Given the description of an element on the screen output the (x, y) to click on. 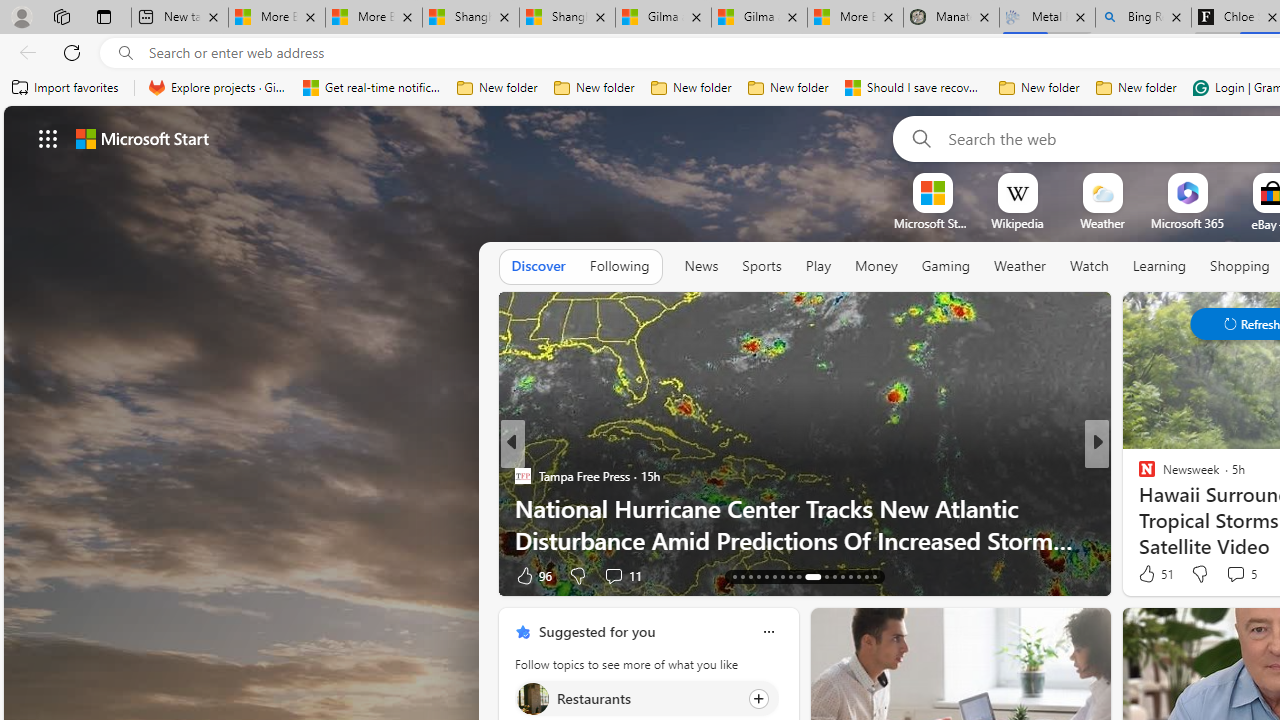
Tampa Free Press (522, 475)
Viral Tech (1138, 507)
Suggested for you (596, 631)
View comments 11 Comment (613, 575)
AutomationID: waffle (47, 138)
Search icon (125, 53)
8 Like (1145, 574)
